Given the description of an element on the screen output the (x, y) to click on. 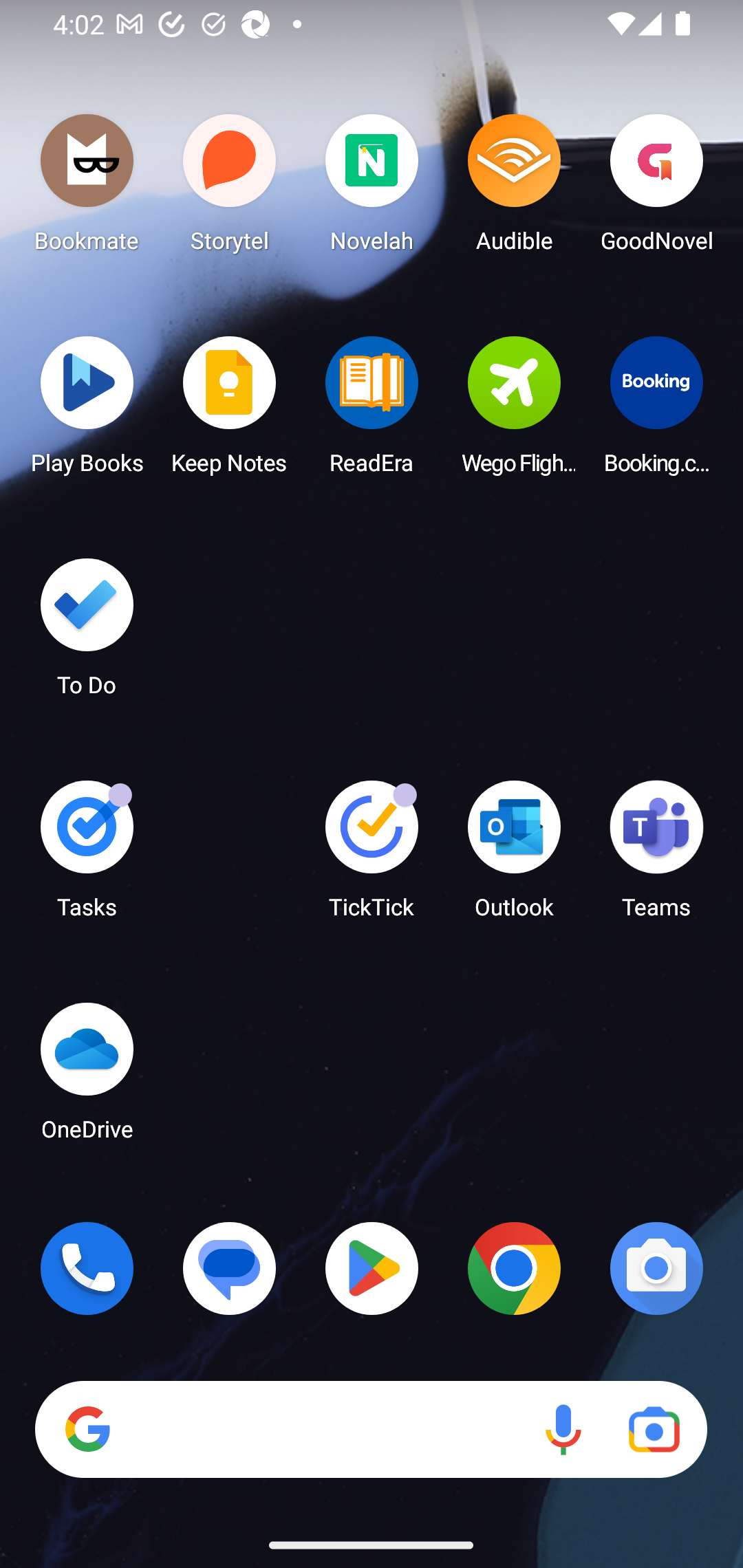
Bookmate (86, 188)
Storytel (229, 188)
Novelah (371, 188)
Audible (513, 188)
GoodNovel (656, 188)
Play Books (86, 410)
Keep Notes (229, 410)
ReadEra (371, 410)
Wego Flights & Hotels (513, 410)
Booking.com (656, 410)
To Do (86, 633)
Tasks Tasks has 1 notification (86, 854)
TickTick TickTick has 3 notifications (371, 854)
Outlook (513, 854)
Teams (656, 854)
OneDrive (86, 1076)
Phone (86, 1268)
Messages (229, 1268)
Play Store (371, 1268)
Chrome (513, 1268)
Camera (656, 1268)
Voice search (562, 1429)
Google Lens (653, 1429)
